Given the description of an element on the screen output the (x, y) to click on. 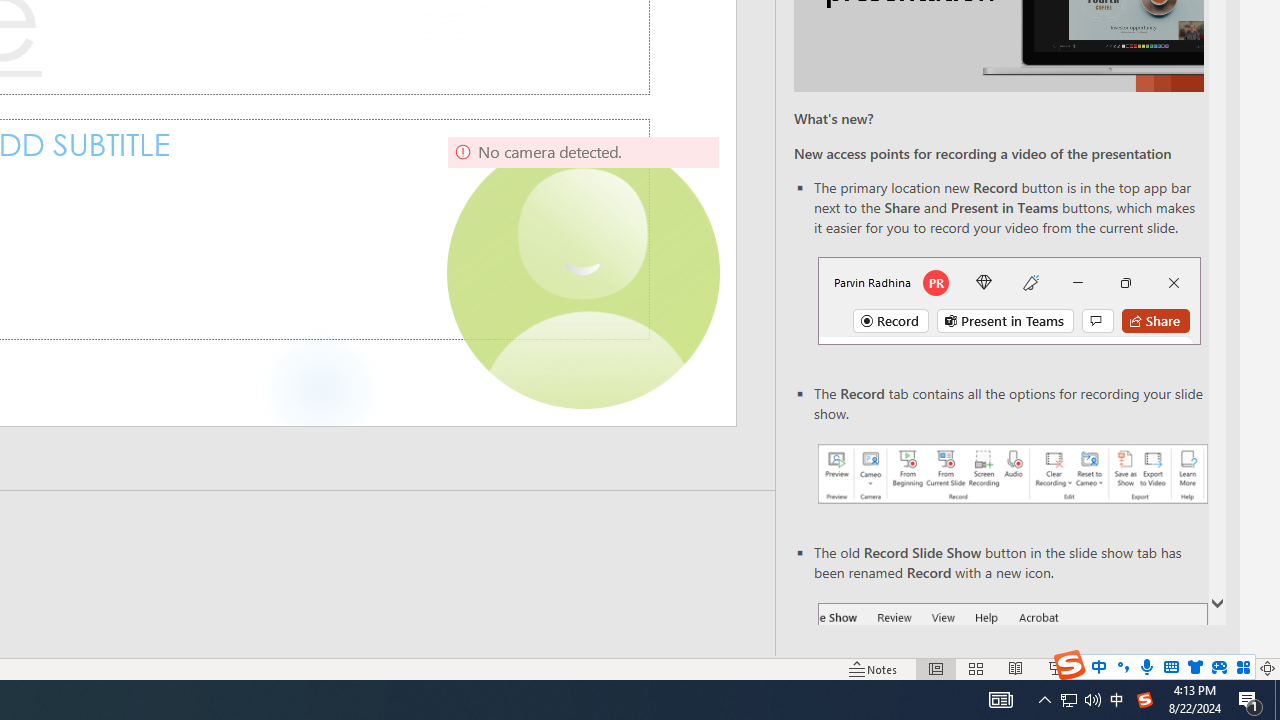
Slide Sorter (975, 668)
Notes  (874, 668)
Reading View (1015, 668)
Zoom Out (1121, 668)
Zoom (1144, 668)
Normal (936, 668)
Zoom 129% (1234, 668)
Zoom In (1204, 668)
Record your presentations screenshot one (1012, 473)
Record button in top bar (1008, 300)
Zoom to Fit  (1267, 668)
